Given the description of an element on the screen output the (x, y) to click on. 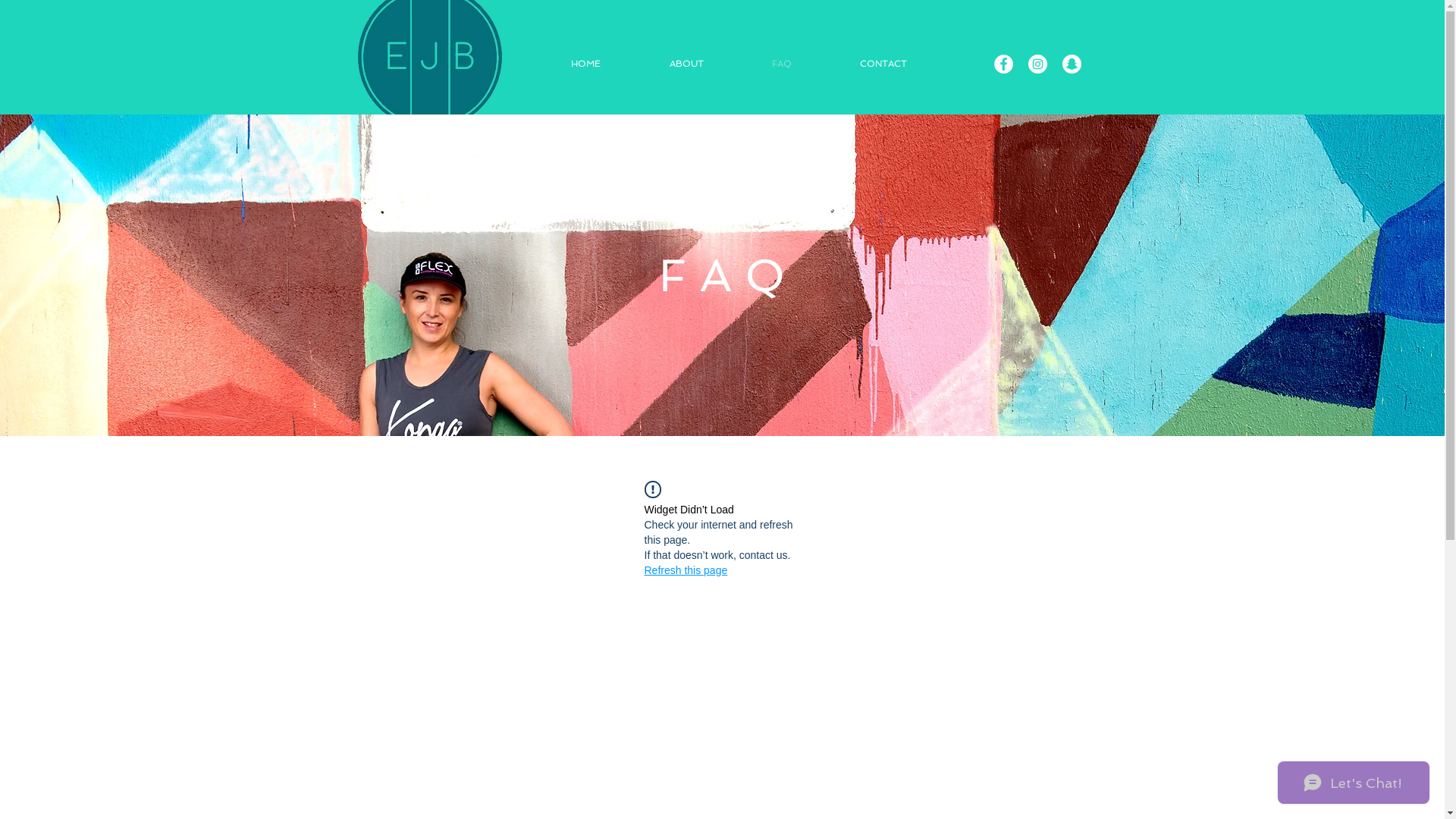
ABOUT Element type: text (709, 63)
HOME Element type: text (608, 63)
Refresh this page Element type: text (686, 569)
F A Q Element type: text (721, 274)
FAQ Element type: text (803, 63)
CONTACT Element type: text (905, 63)
